Given the description of an element on the screen output the (x, y) to click on. 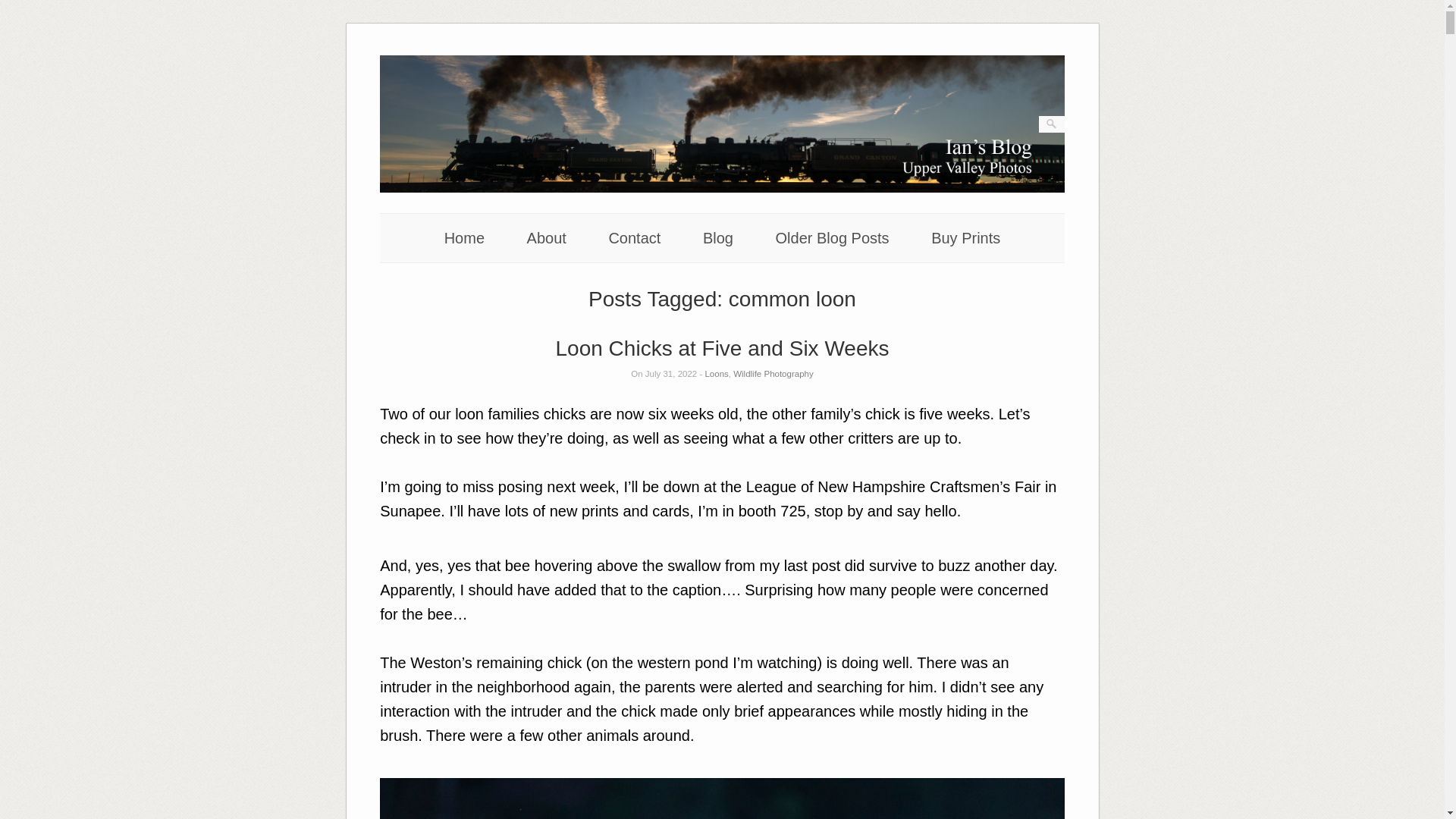
Buy Prints (965, 238)
Contact (634, 238)
Blog (718, 238)
Loon Chicks at Five and Six Weeks (722, 348)
Search (21, 7)
About (546, 238)
Home (464, 238)
Older Blog Posts (832, 238)
Loons (716, 373)
Wildlife Photography (772, 373)
